Given the description of an element on the screen output the (x, y) to click on. 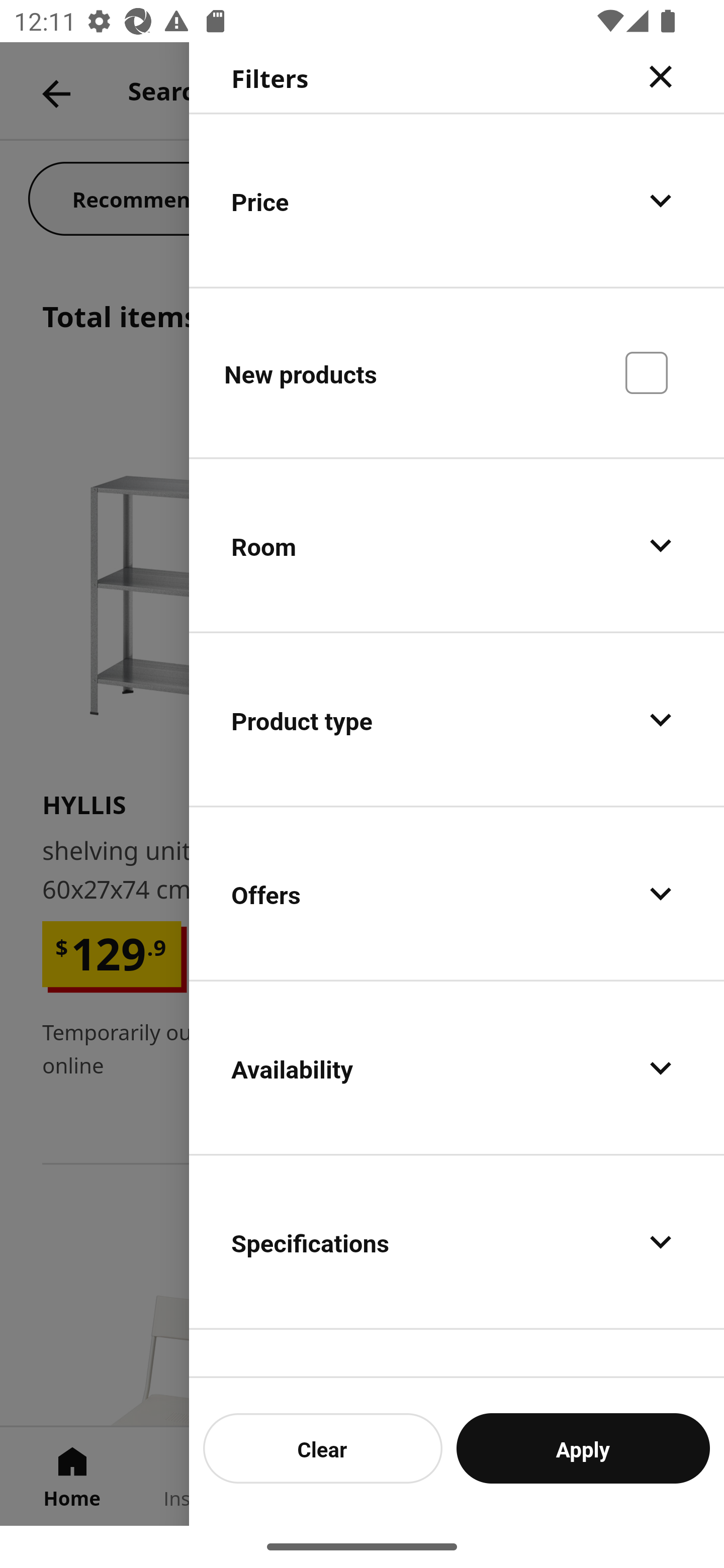
Price (456, 200)
New products (456, 371)
Room (456, 545)
Product type (456, 719)
Offers (456, 893)
Availability (456, 1067)
Specifications (456, 1241)
Clear (322, 1447)
Apply (583, 1447)
